Given the description of an element on the screen output the (x, y) to click on. 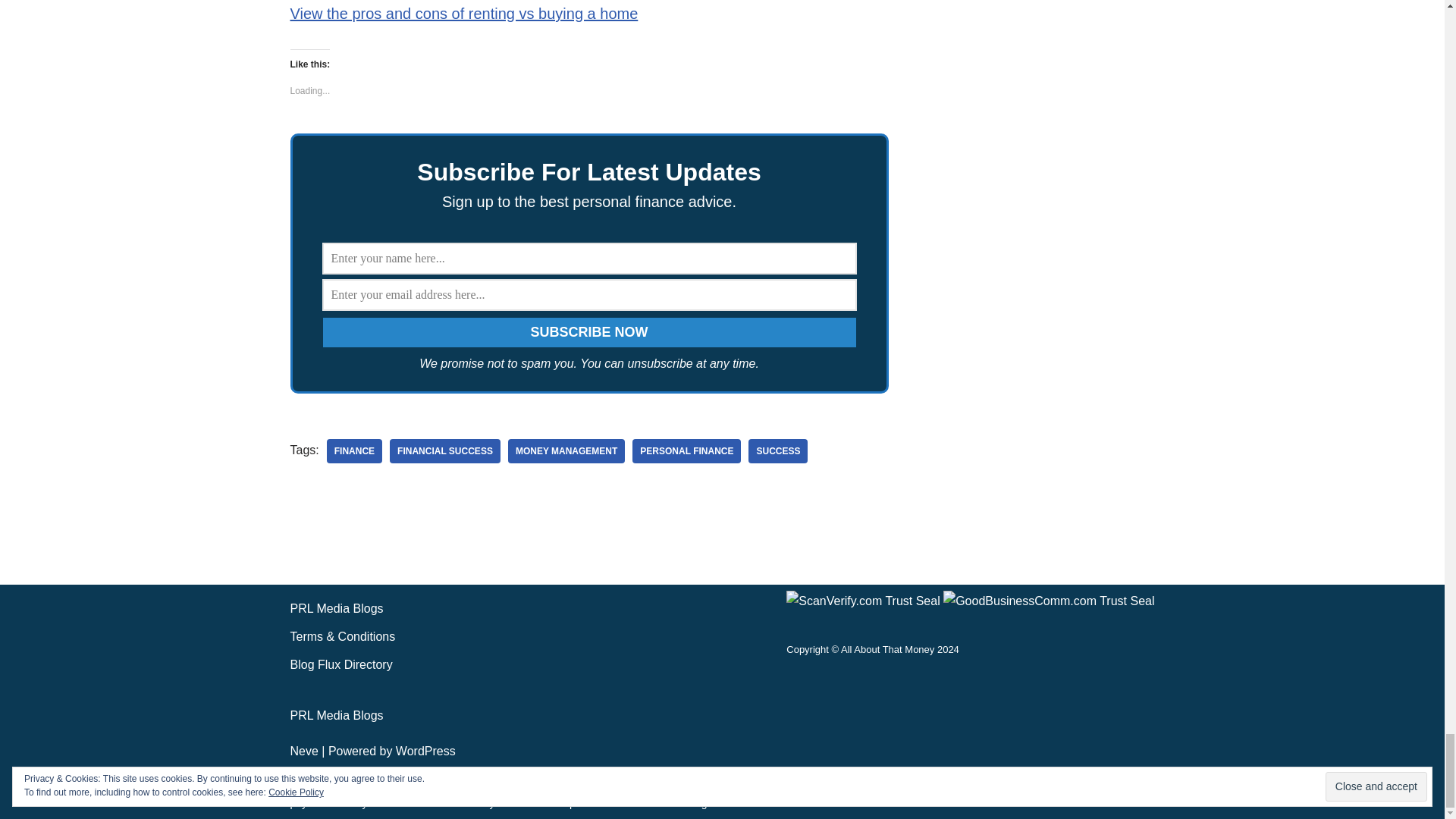
Subscribe Now (589, 332)
